Given the description of an element on the screen output the (x, y) to click on. 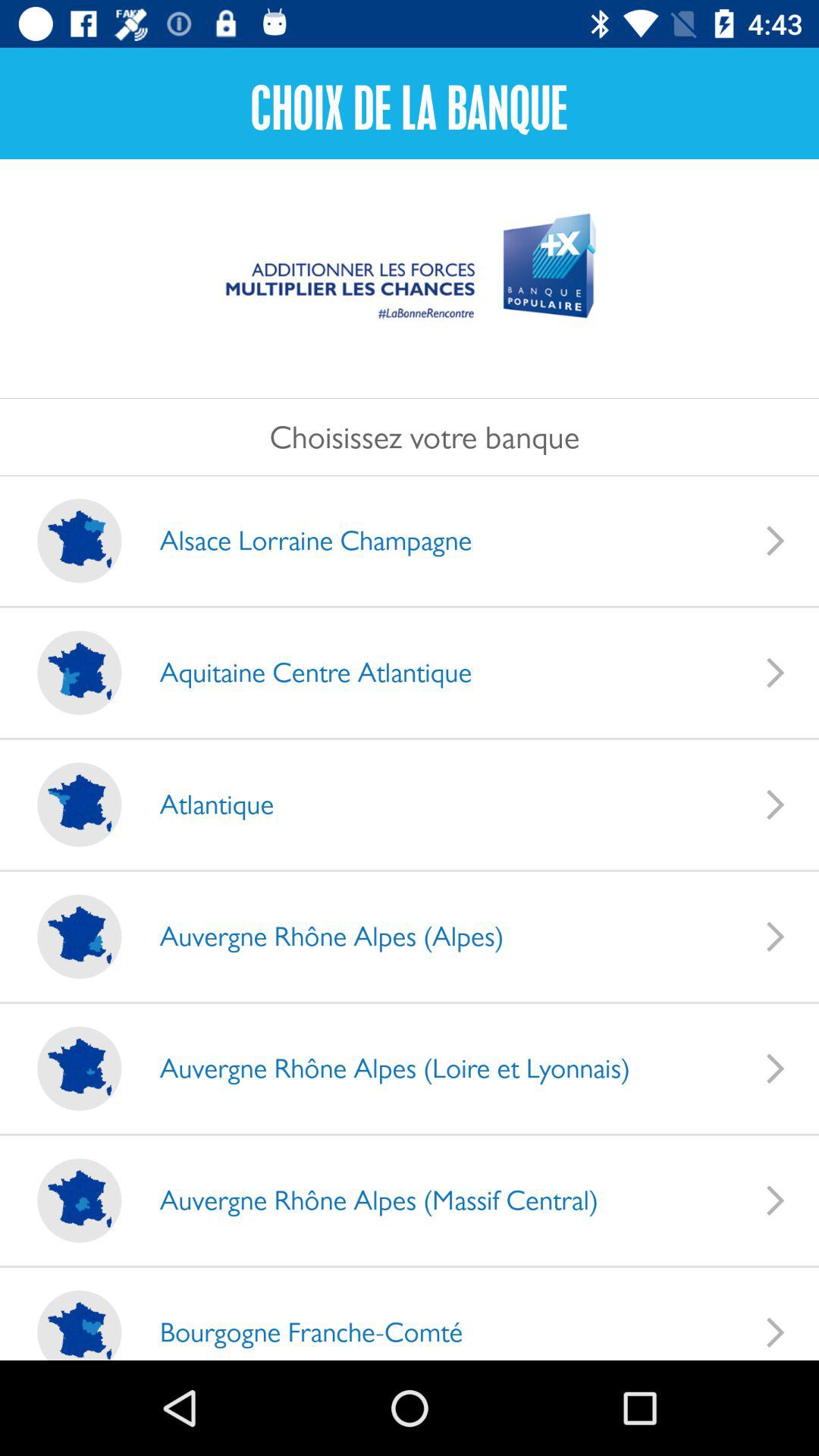
launch the alsace lorraine champagne icon (300, 540)
